Given the description of an element on the screen output the (x, y) to click on. 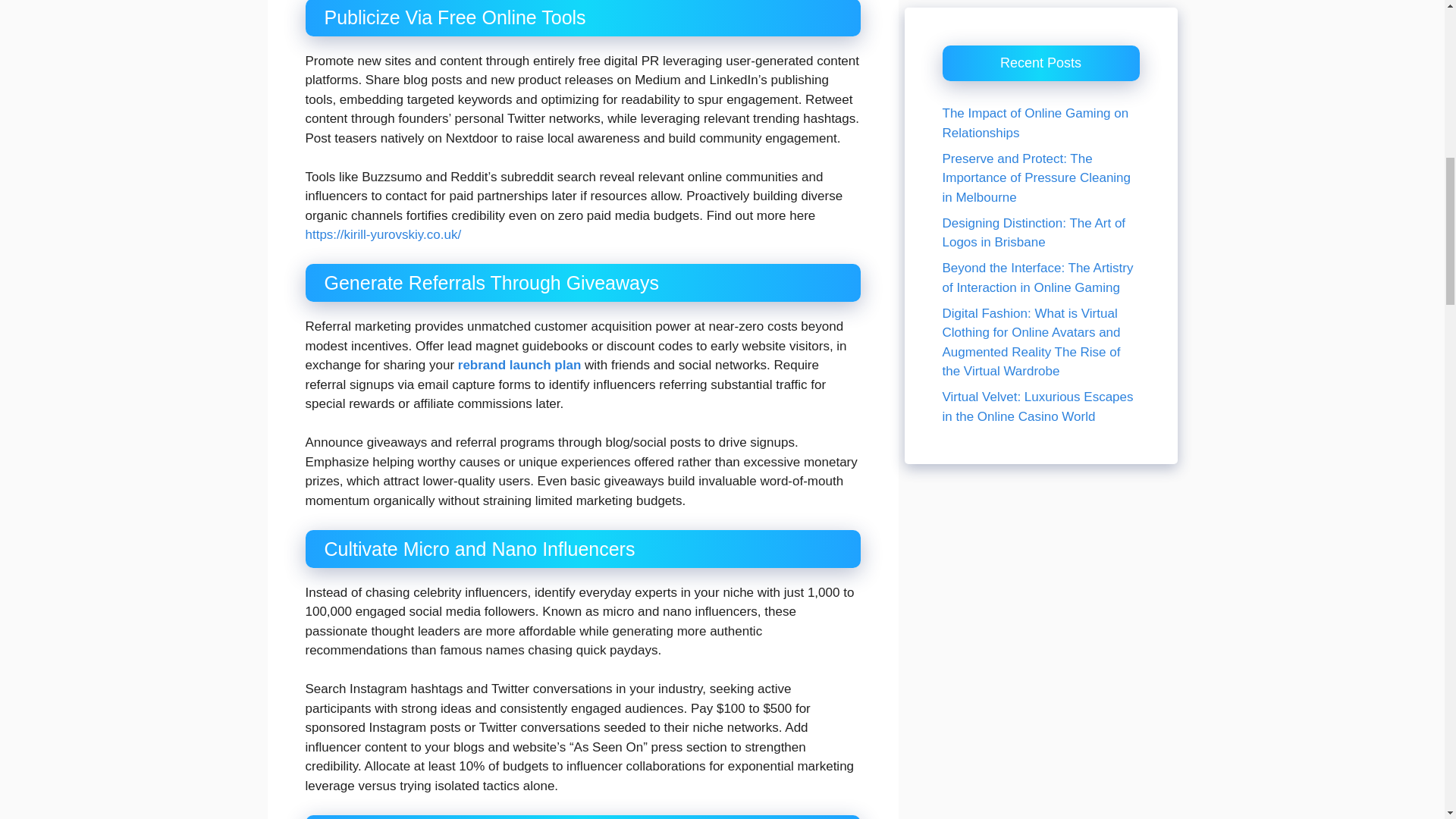
rebrand launch plan (519, 364)
